Given the description of an element on the screen output the (x, y) to click on. 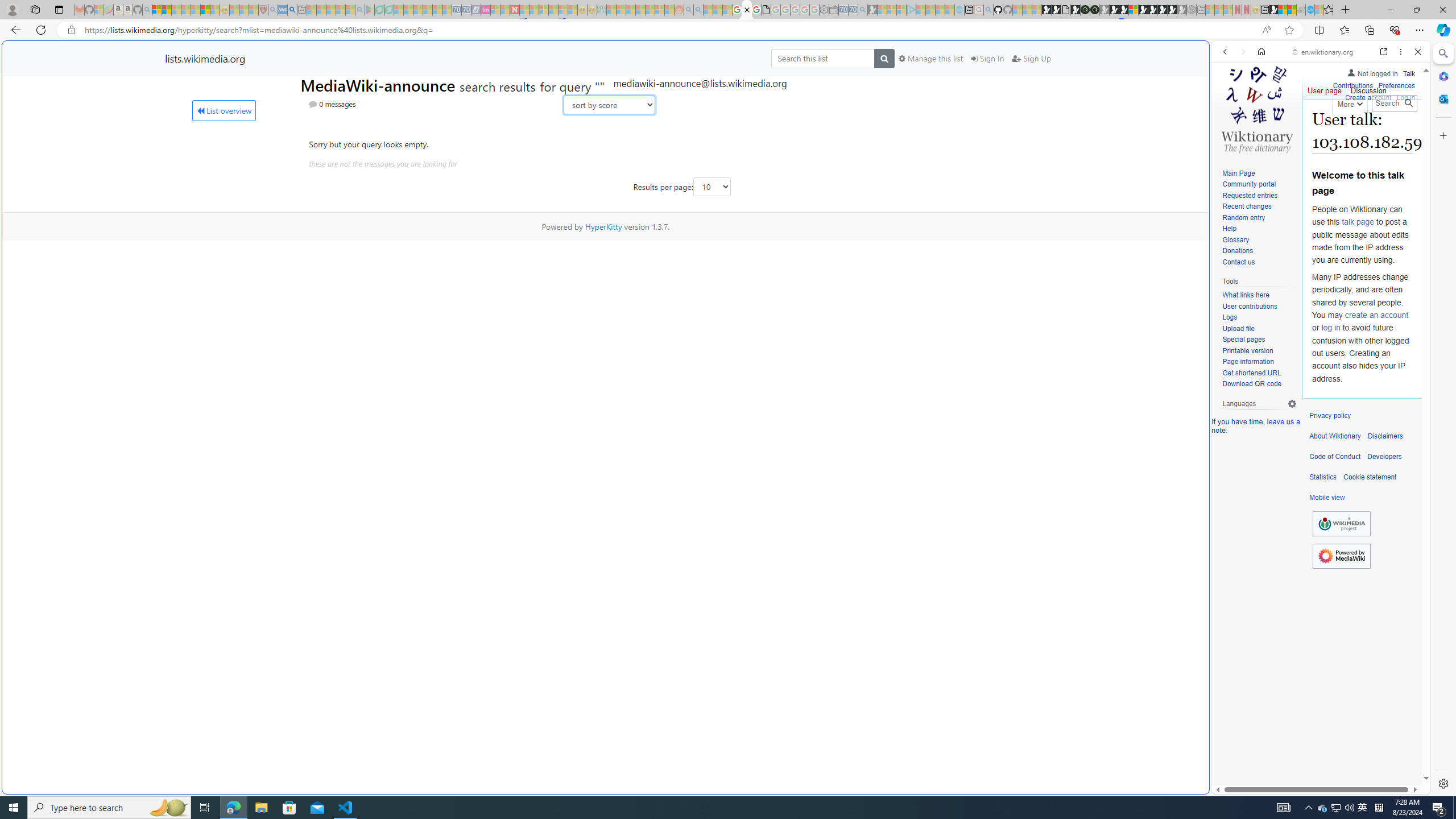
More (1349, 101)
Cookie statement (1369, 477)
create an account (1376, 314)
Logs (1259, 317)
Contact us (1259, 262)
